Given the description of an element on the screen output the (x, y) to click on. 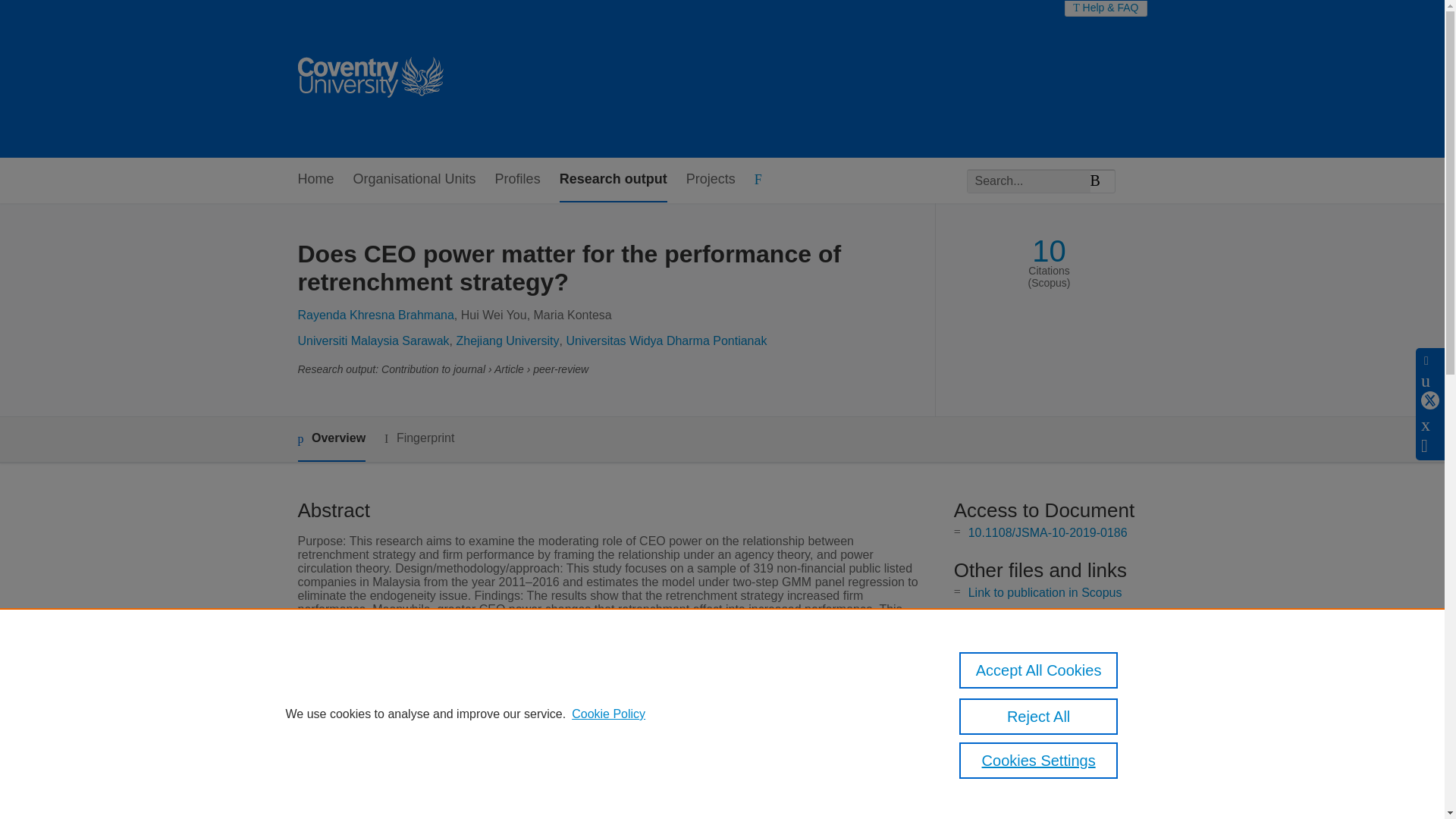
Journal of Strategy and Management (607, 795)
Research output (612, 180)
Rayenda Khresna Brahmana (374, 314)
Link to publication in Scopus (1045, 592)
Fingerprint (419, 438)
Overview (331, 438)
Organisational Units (414, 180)
Zhejiang University (507, 340)
Universiti Malaysia Sarawak (372, 340)
10 (1048, 251)
Profiles (517, 180)
Projects (710, 180)
Coventry University Home (369, 78)
Universitas Widya Dharma Pontianak (666, 340)
